Given the description of an element on the screen output the (x, y) to click on. 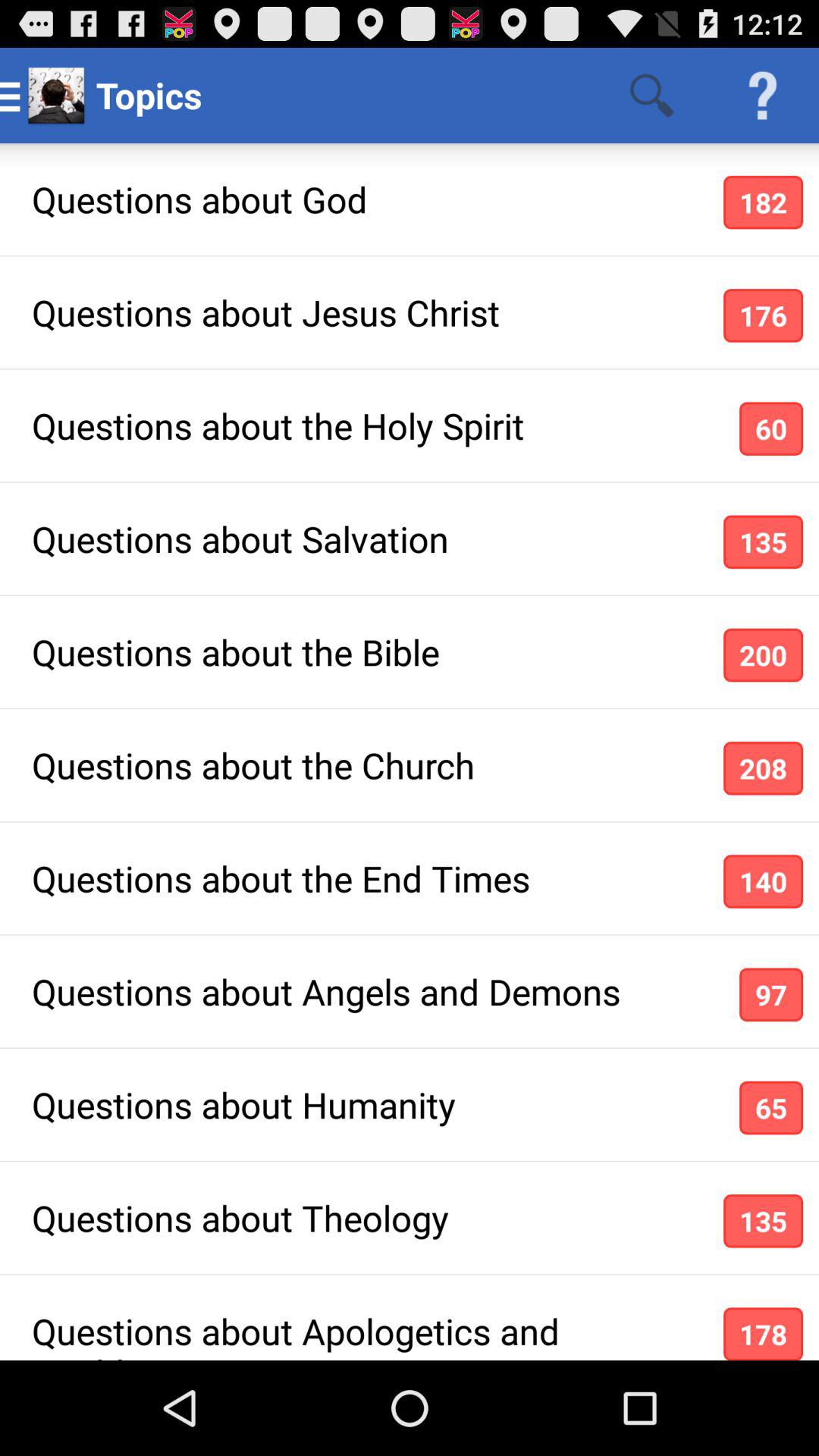
flip to 200 (763, 654)
